Given the description of an element on the screen output the (x, y) to click on. 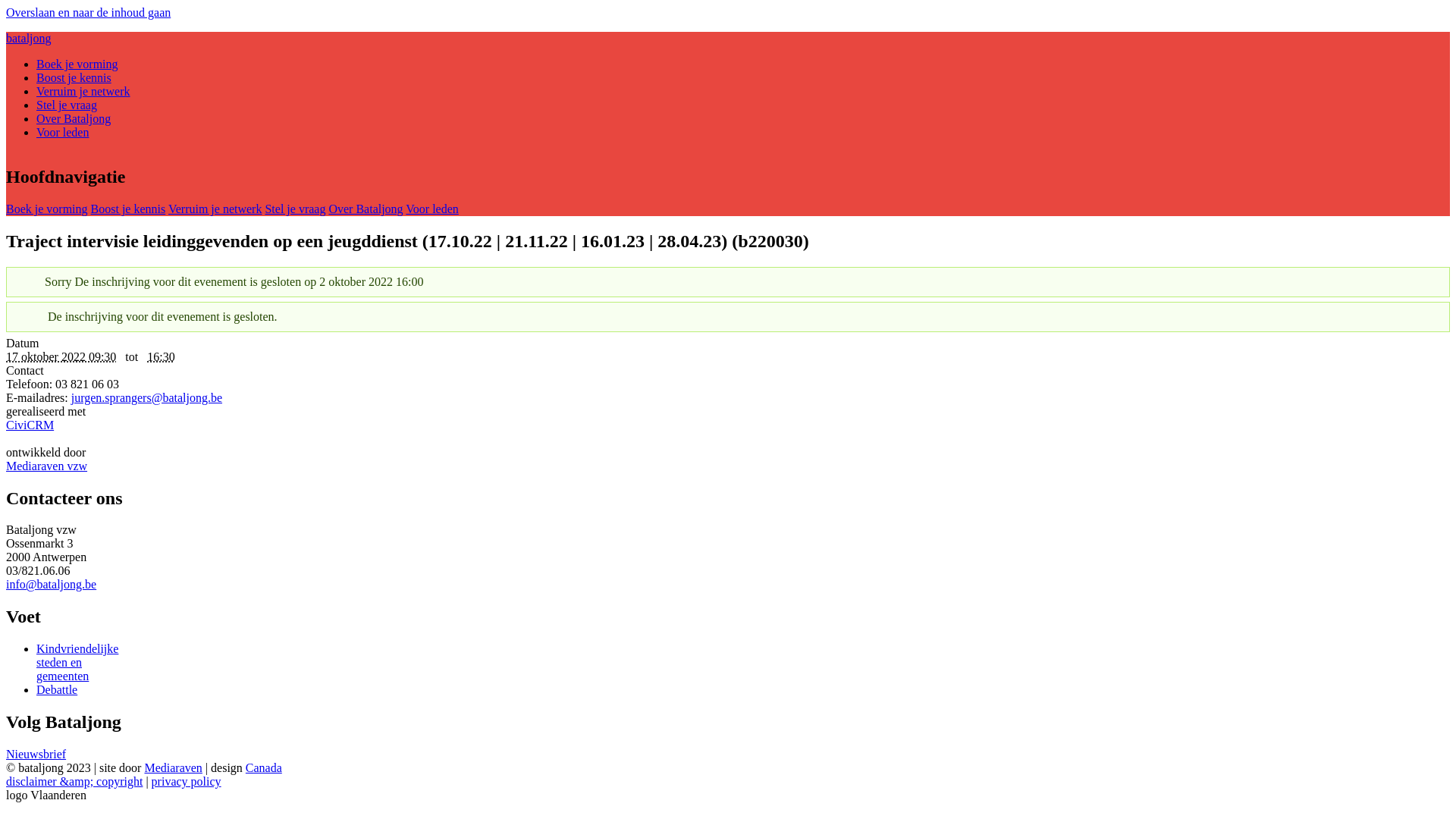
Over Bataljong Element type: text (73, 118)
info@bataljong.be Element type: text (51, 583)
Overslaan en naar de inhoud gaan Element type: text (88, 12)
Voor leden Element type: text (431, 208)
Boost je kennis Element type: text (73, 77)
Boek je vorming Element type: text (46, 208)
Voor leden Element type: text (62, 131)
jurgen.sprangers@bataljong.be Element type: text (146, 397)
Over Bataljong Element type: text (365, 208)
Mediaraven vzw Element type: text (46, 465)
Boost je kennis Element type: text (128, 208)
Stel je vraag Element type: text (66, 104)
| Element type: text (147, 781)
Stel je vraag Element type: text (294, 208)
Verruim je netwerk Element type: text (215, 208)
Debattle Element type: text (56, 689)
Boek je vorming Element type: text (77, 63)
Nieuwsbrief Element type: text (35, 753)
Canada Element type: text (263, 767)
disclaimer &amp; copyright Element type: text (74, 781)
privacy policy Element type: text (186, 781)
Mediaraven Element type: text (172, 767)
Verruim je netwerk Element type: text (83, 90)
bataljong Element type: text (28, 37)
Kindvriendelijke
steden en
gemeenten Element type: text (77, 662)
CiviCRM Element type: text (727, 431)
